Given the description of an element on the screen output the (x, y) to click on. 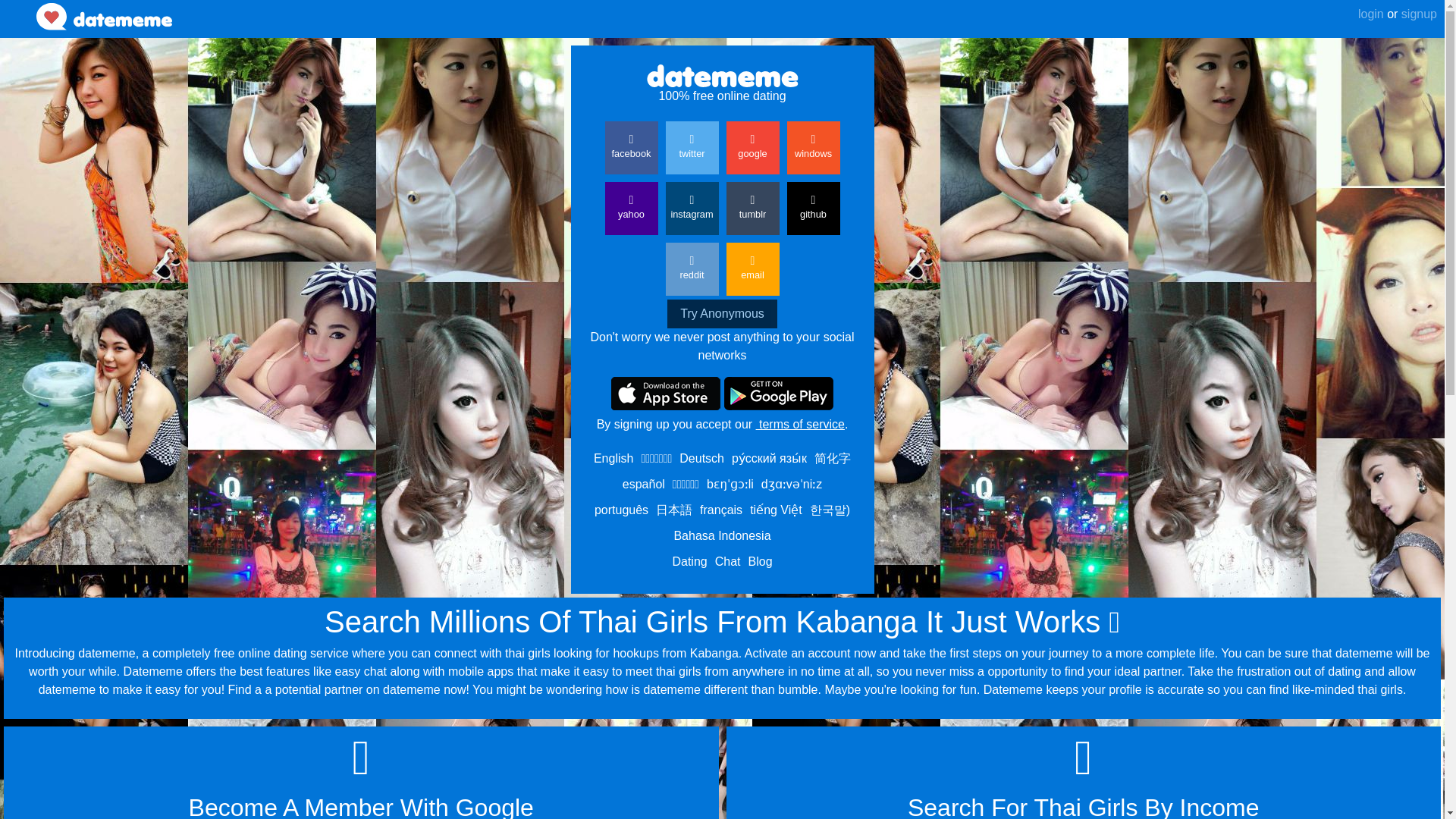
twitter (692, 147)
google (752, 147)
 terms of service (799, 423)
home (103, 16)
instagram (692, 208)
login (1371, 14)
Try Anonymous (721, 313)
email (752, 268)
yahoo (631, 208)
 signup (1417, 14)
